Given the description of an element on the screen output the (x, y) to click on. 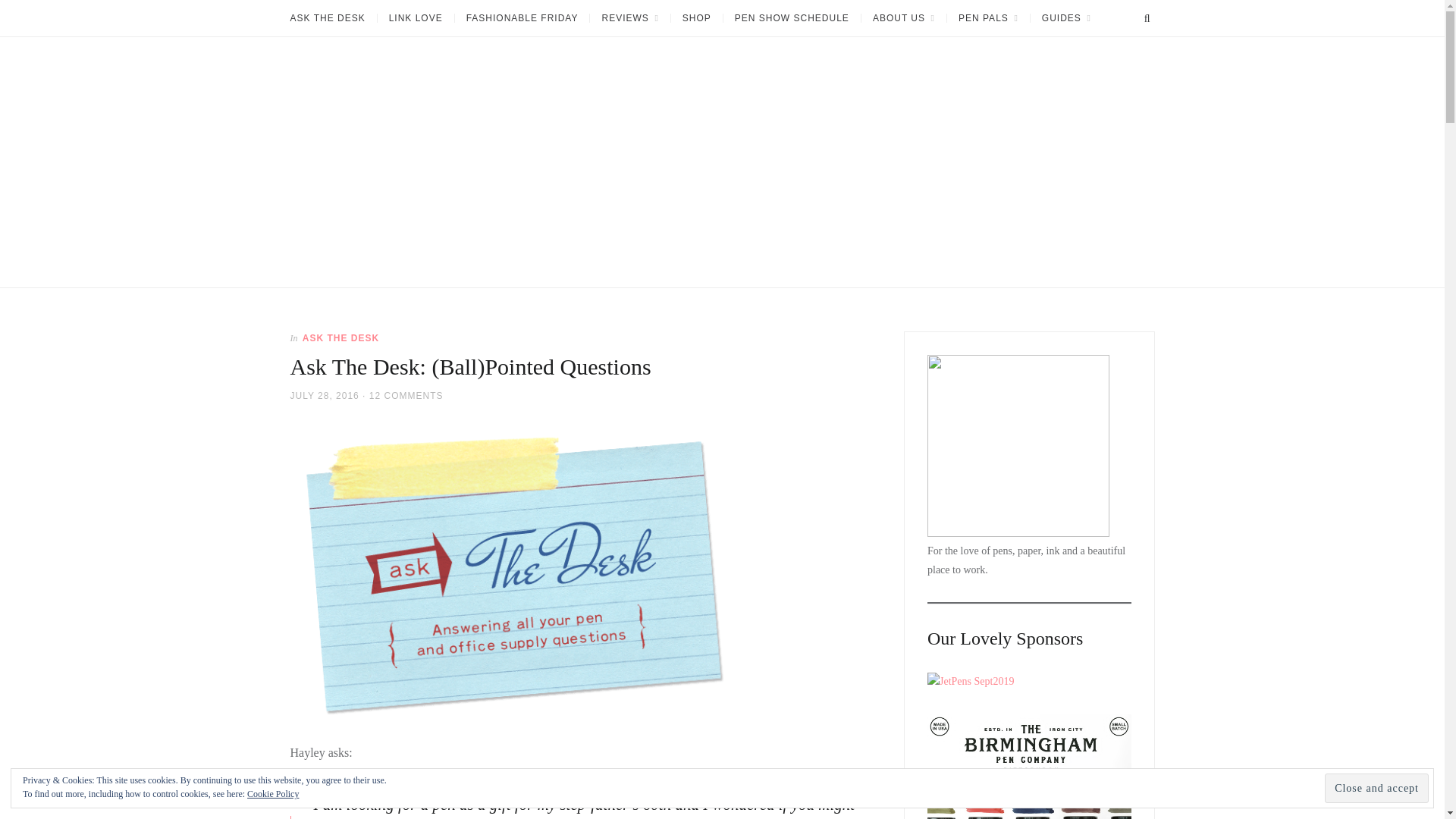
GUIDES (1065, 17)
SHOP (695, 17)
PEN PALS (987, 17)
ABOUT US (903, 17)
12 COMMENTS (406, 394)
LINK LOVE (415, 17)
ASK THE DESK (332, 17)
PEN SHOW SCHEDULE (791, 17)
The Well-Appointed Desk (346, 292)
ASK THE DESK (340, 337)
